Given the description of an element on the screen output the (x, y) to click on. 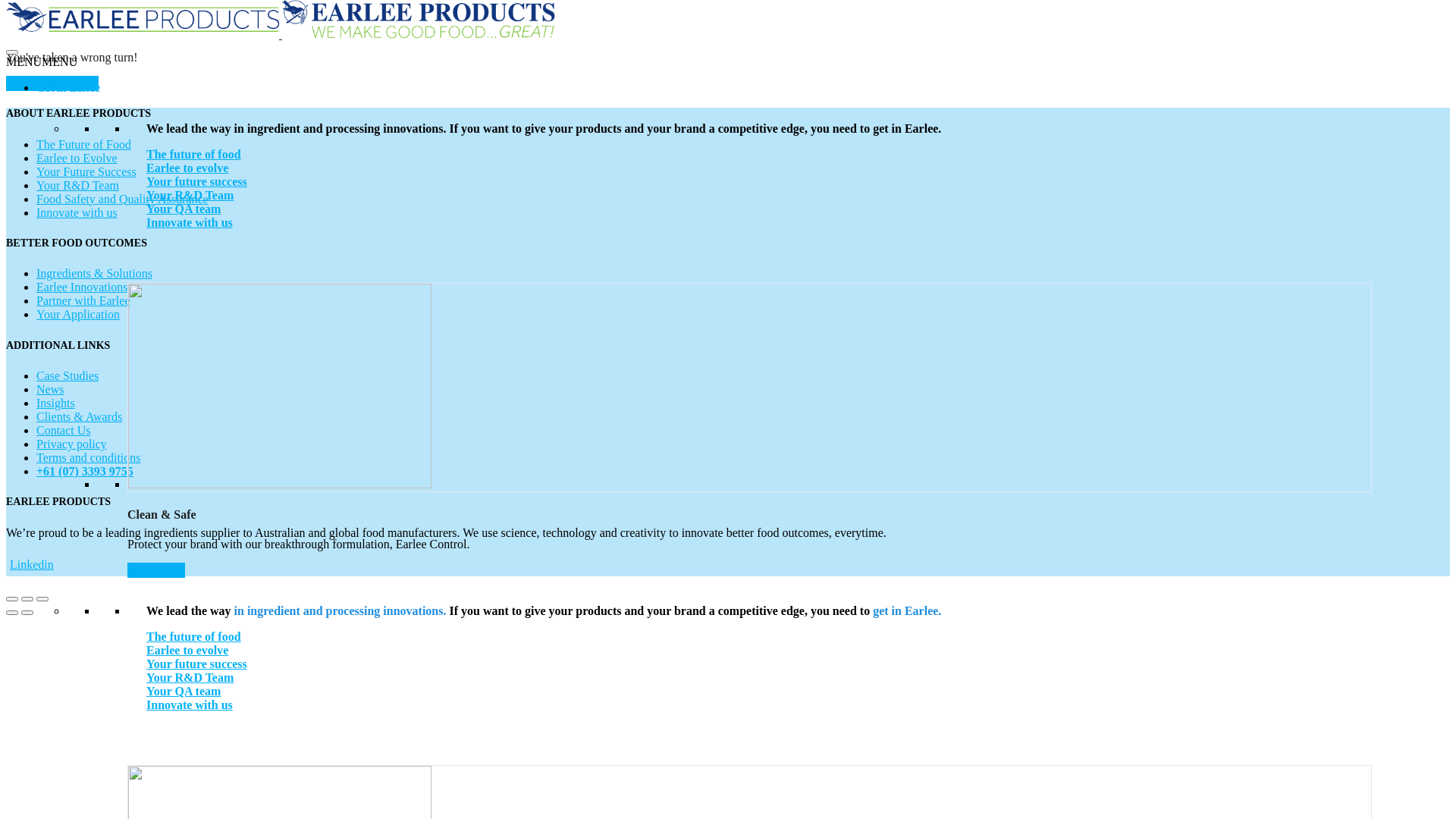
Earlee to evolve Element type: text (187, 649)
Close (Esc) Element type: hover (12, 598)
Clients & Awards Element type: text (79, 416)
Your future success Element type: text (196, 663)
Contact Us Element type: text (63, 429)
Privacy policy Element type: text (71, 443)
Partner with Earlee Element type: text (83, 300)
The future of food Element type: text (193, 153)
Case Studies Element type: text (67, 375)
Ingredients & Solutions Element type: text (94, 272)
Your R&D Team Element type: text (189, 677)
Innovate with us Element type: text (189, 222)
+61 (07) 3393 9755 Element type: text (84, 471)
Your QA team Element type: text (183, 208)
Toggle fullscreen Element type: hover (27, 598)
Read More Element type: text (156, 569)
Next (arrow right) Element type: hover (27, 612)
The future of food Element type: text (193, 636)
Your Future Success Element type: text (86, 171)
Earlee to evolve Element type: text (187, 167)
Linkedin Element type: text (29, 564)
Get in Earlee Element type: text (68, 87)
Food Safety and Quality Assurance Element type: text (122, 198)
Your R&D Team Element type: text (77, 184)
News Element type: text (49, 388)
Back to homepage Element type: text (52, 83)
Your Application Element type: text (77, 313)
Earlee to Evolve Element type: text (76, 157)
Insights Element type: text (55, 402)
Zoom in/out Element type: hover (42, 598)
Your QA team Element type: text (183, 690)
The Future of Food Element type: text (83, 144)
Earlee Innovations Element type: text (81, 286)
Previous (arrow left) Element type: hover (12, 612)
Innovate with us Element type: text (189, 704)
Your R&D Team Element type: text (189, 194)
Terms and conditions Element type: text (88, 457)
Your future success Element type: text (196, 181)
Innovate with us Element type: text (76, 212)
